Given the description of an element on the screen output the (x, y) to click on. 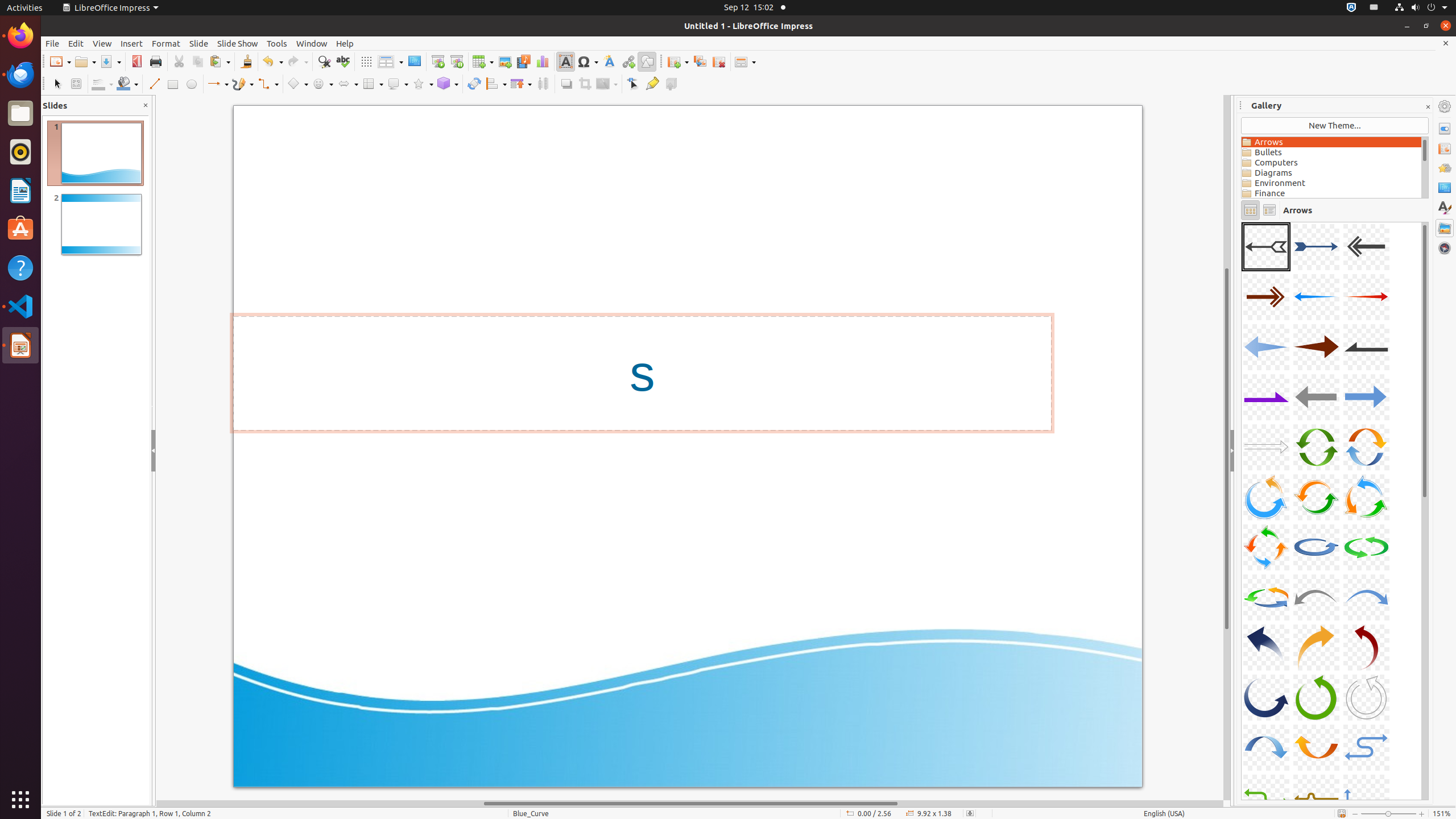
Hyperlink Element type: toggle-button (627, 61)
Properties Element type: radio-button (1444, 128)
Icon View Element type: toggle-button (1250, 210)
Environment Element type: list-item (1331, 183)
LibreOffice Impress Element type: push-button (20, 344)
